Given the description of an element on the screen output the (x, y) to click on. 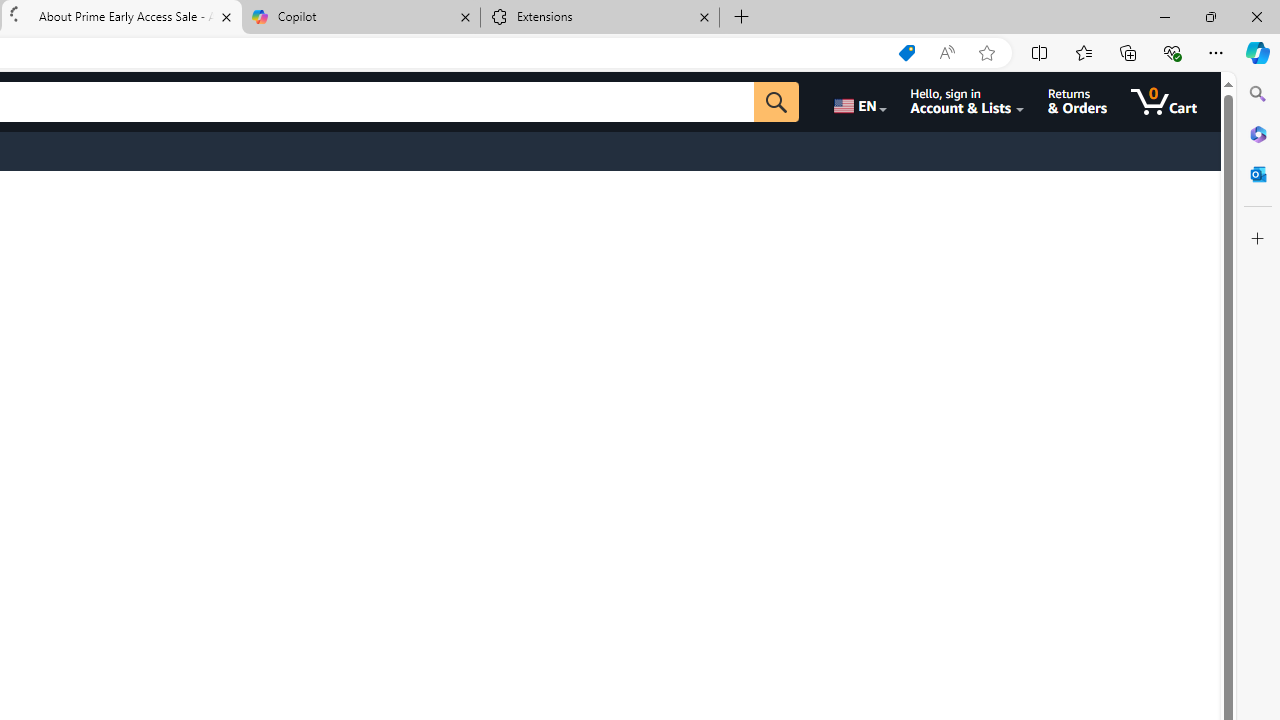
Go (792, 101)
Extensions (600, 17)
